Given the description of an element on the screen output the (x, y) to click on. 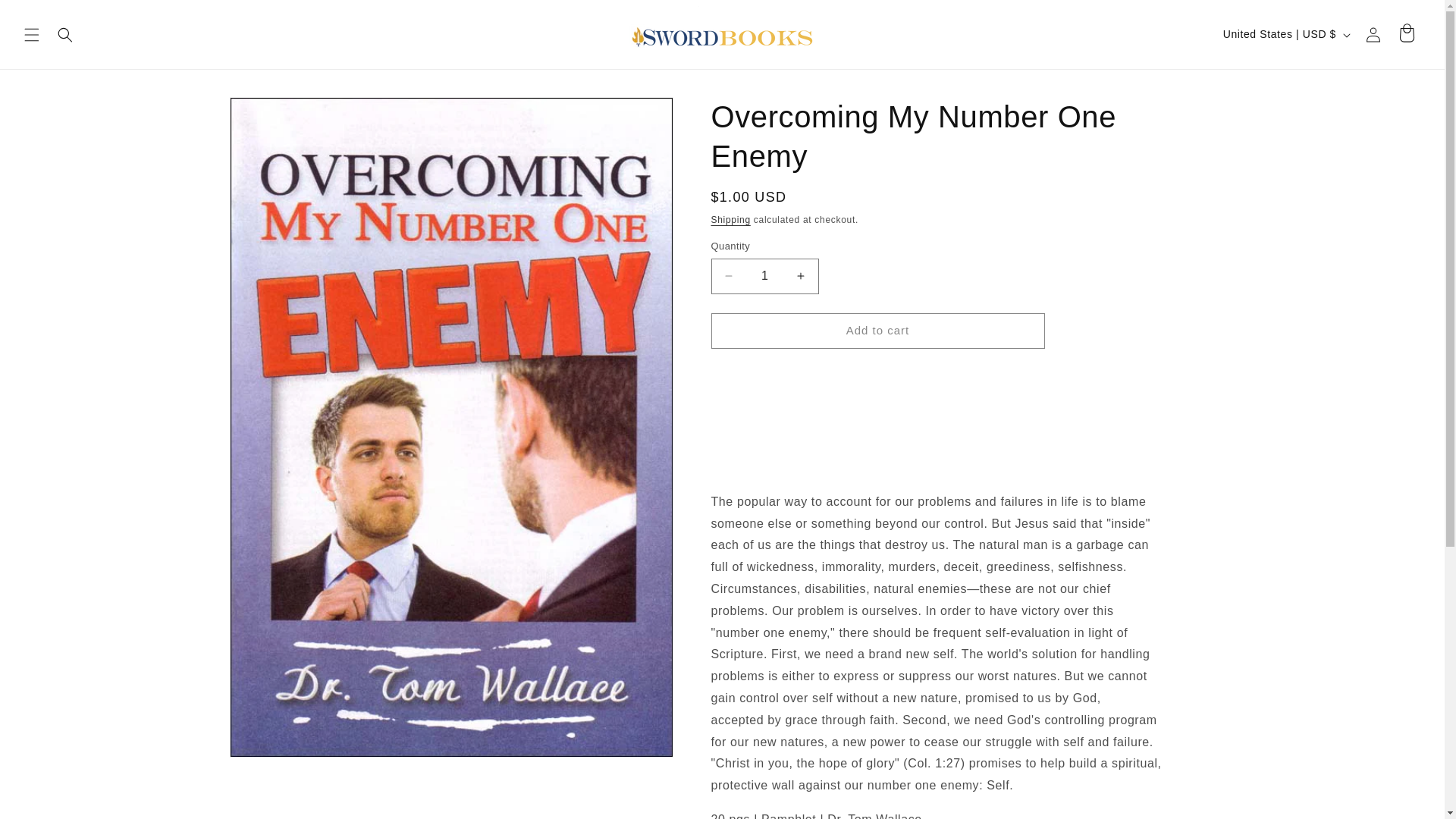
Skip to content (45, 17)
1 (764, 276)
